Given the description of an element on the screen output the (x, y) to click on. 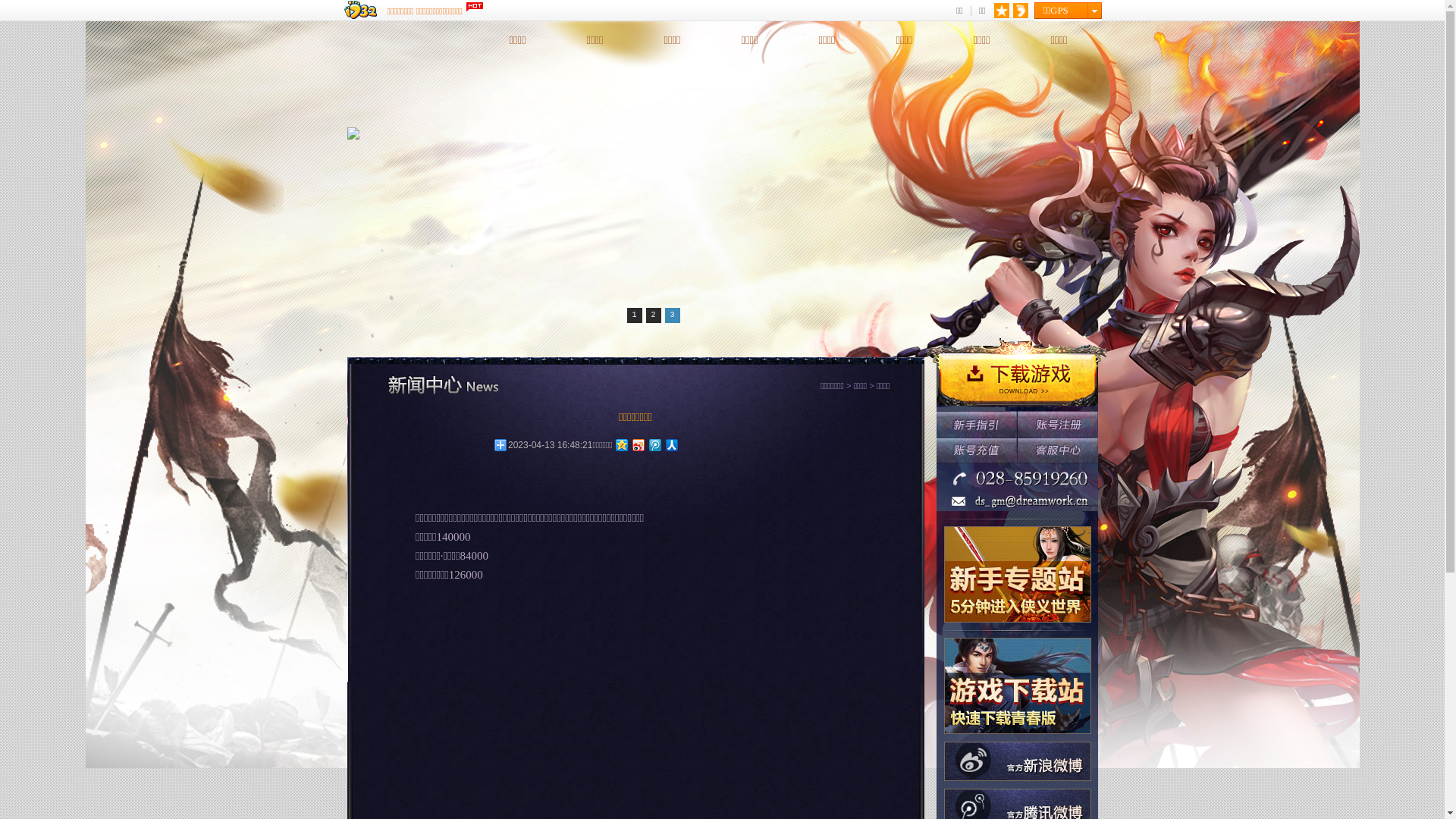
2 Element type: text (653, 315)
3 Element type: text (671, 315)
1 Element type: text (633, 315)
